Given the description of an element on the screen output the (x, y) to click on. 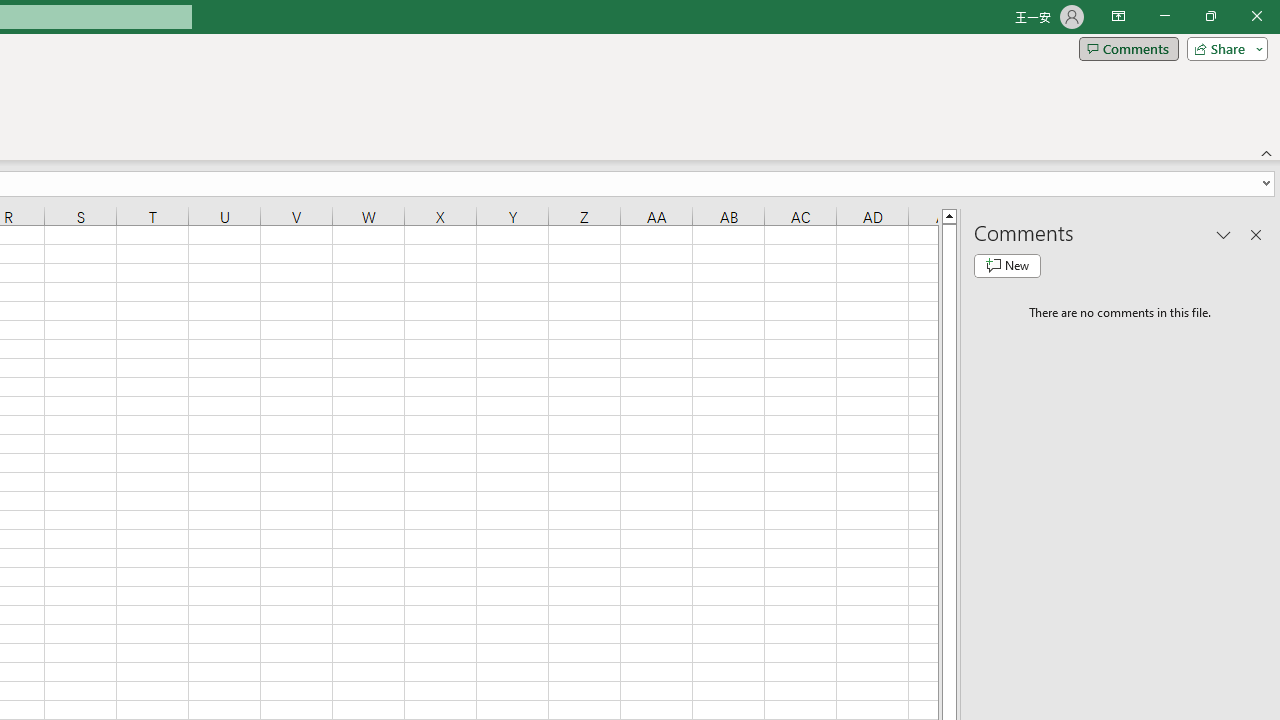
New comment (1007, 265)
Close pane (1256, 234)
Task Pane Options (1224, 234)
